Given the description of an element on the screen output the (x, y) to click on. 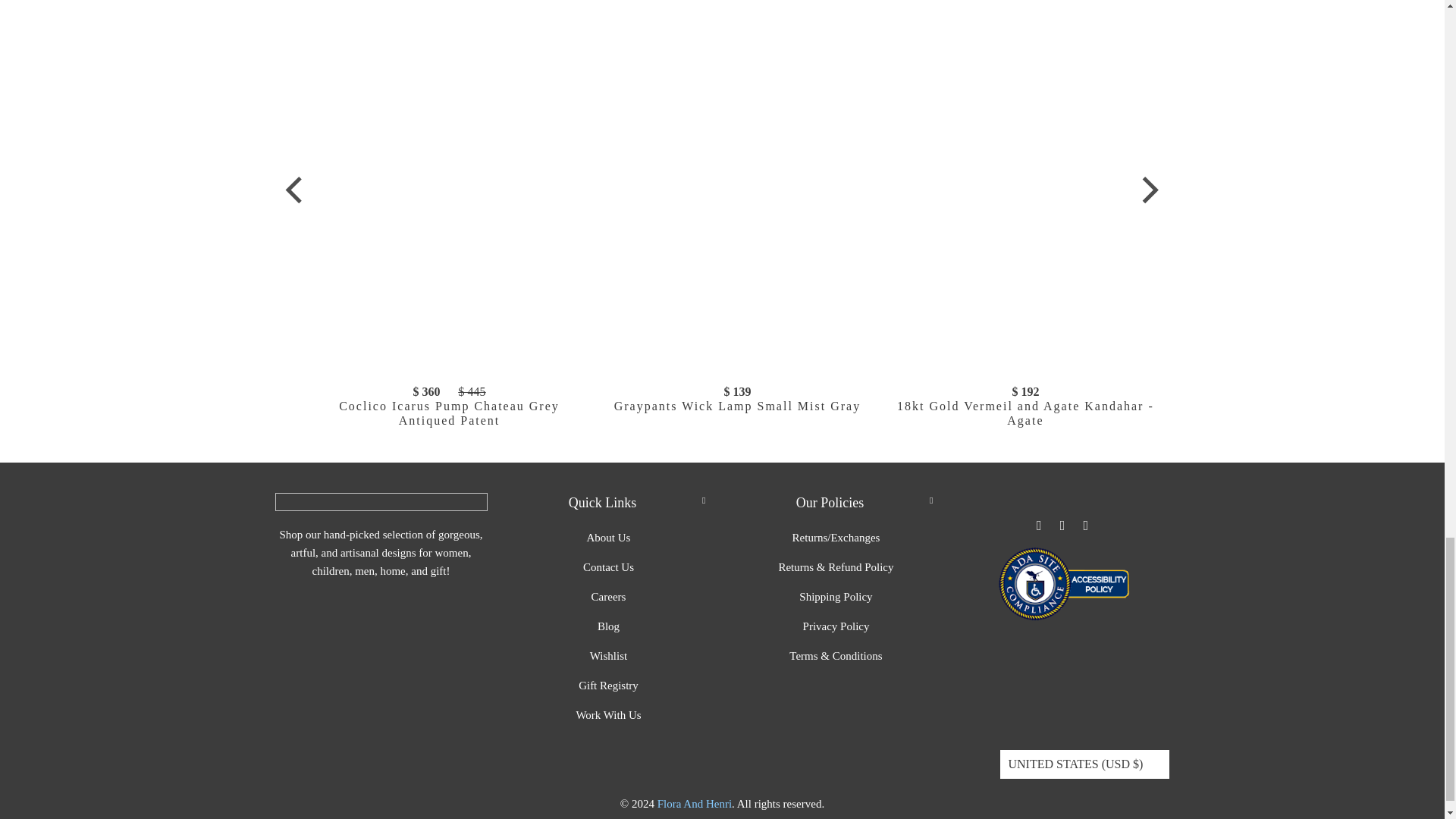
flora and henri (695, 803)
